Given the description of an element on the screen output the (x, y) to click on. 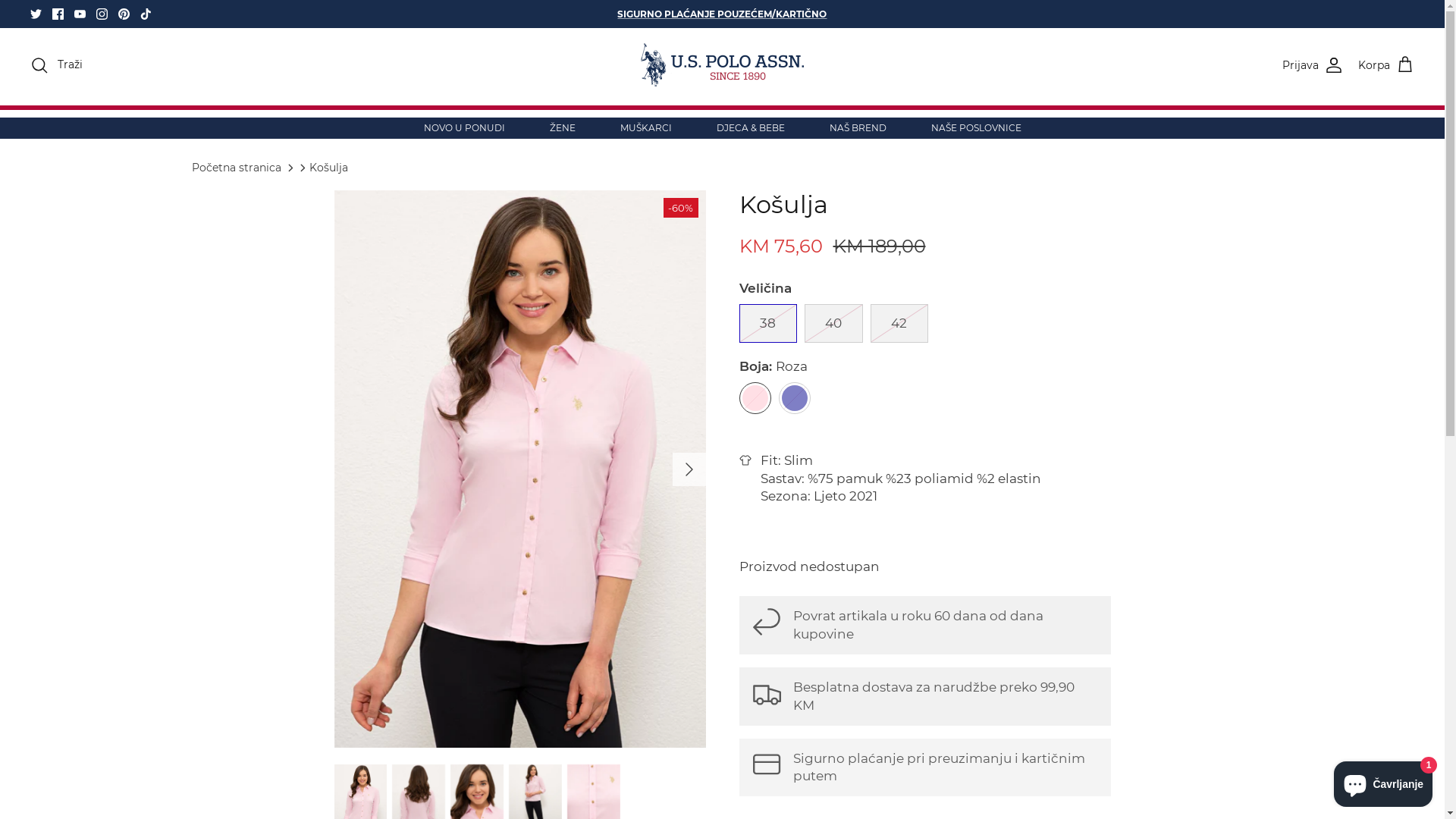
U.S. Polo Assn. Bosnia Element type: hover (721, 64)
Twitter Element type: text (35, 13)
Korpa Element type: text (1386, 65)
NOVO U PONUDI Element type: text (463, 127)
Facebook Element type: text (57, 13)
Prijava Element type: text (1312, 65)
DJECA & BEBE Element type: text (749, 127)
Desno Element type: text (688, 469)
Pinterest Element type: text (123, 13)
DOSTAVA U ROKU OD 48 - 72 SATA ZBOG TRENUTNE AKCIJE Element type: text (722, 13)
Instagram Element type: text (101, 13)
Youtube Element type: text (79, 13)
